Given the description of an element on the screen output the (x, y) to click on. 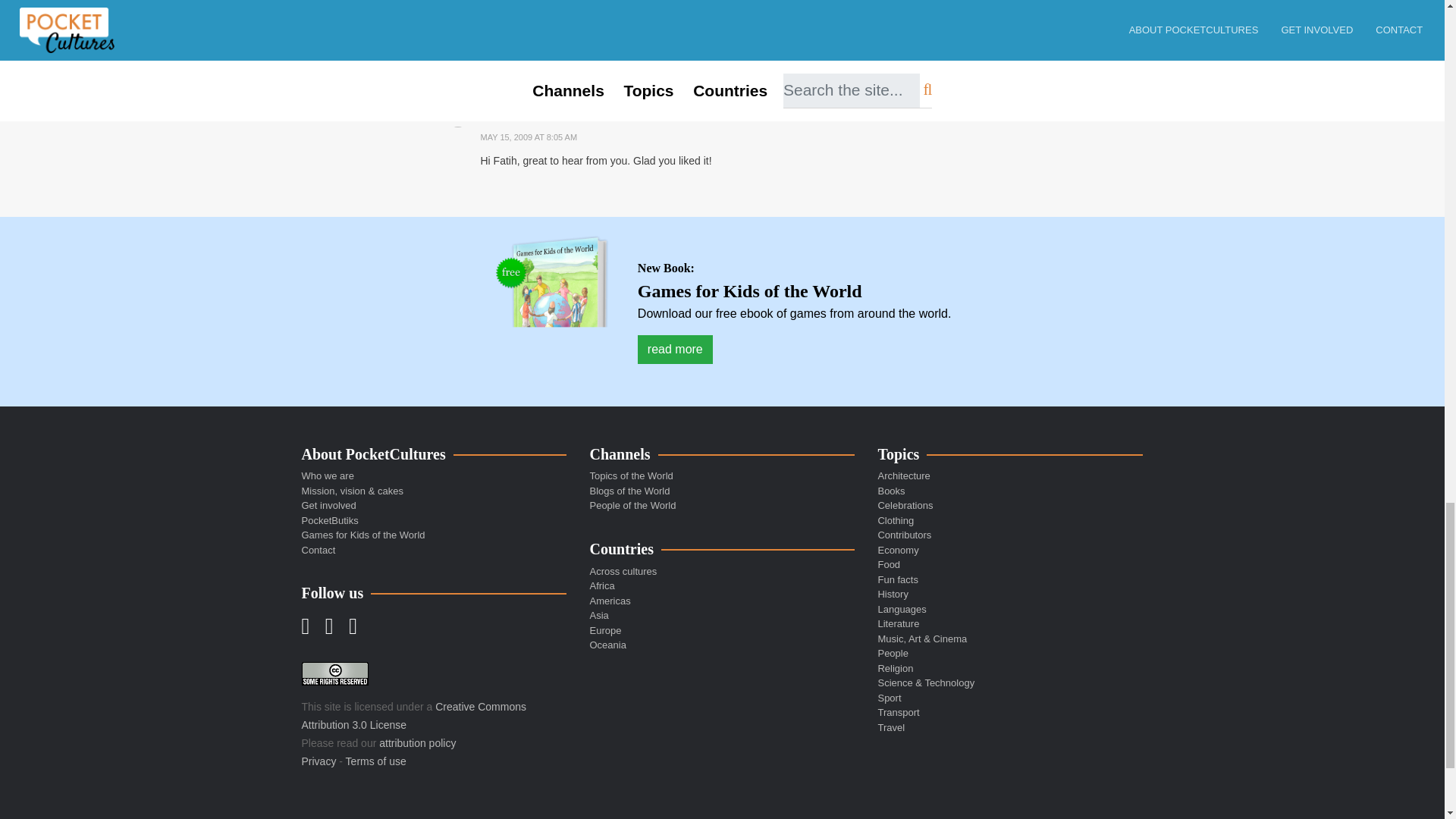
Attribution policy (416, 743)
Privacy (318, 761)
Terms of use (376, 761)
